Given the description of an element on the screen output the (x, y) to click on. 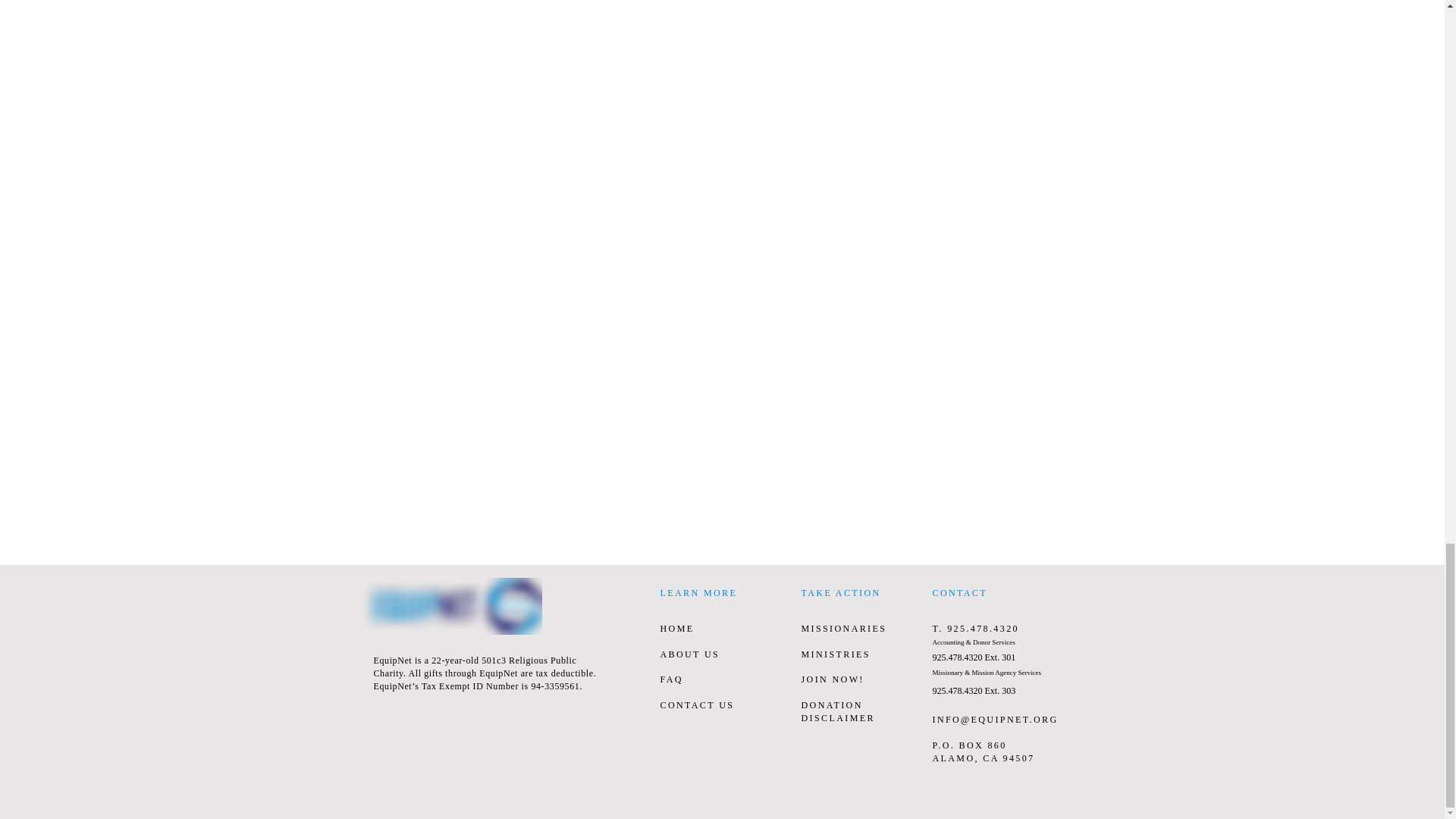
HOME (676, 628)
CONTACT US (696, 705)
ABOUT US (689, 654)
DONATION (830, 705)
MISSIONARIES (843, 628)
FAQ (670, 679)
JOIN NOW! (831, 679)
DISCLAIMER (837, 717)
MINISTRIES (834, 654)
